Given the description of an element on the screen output the (x, y) to click on. 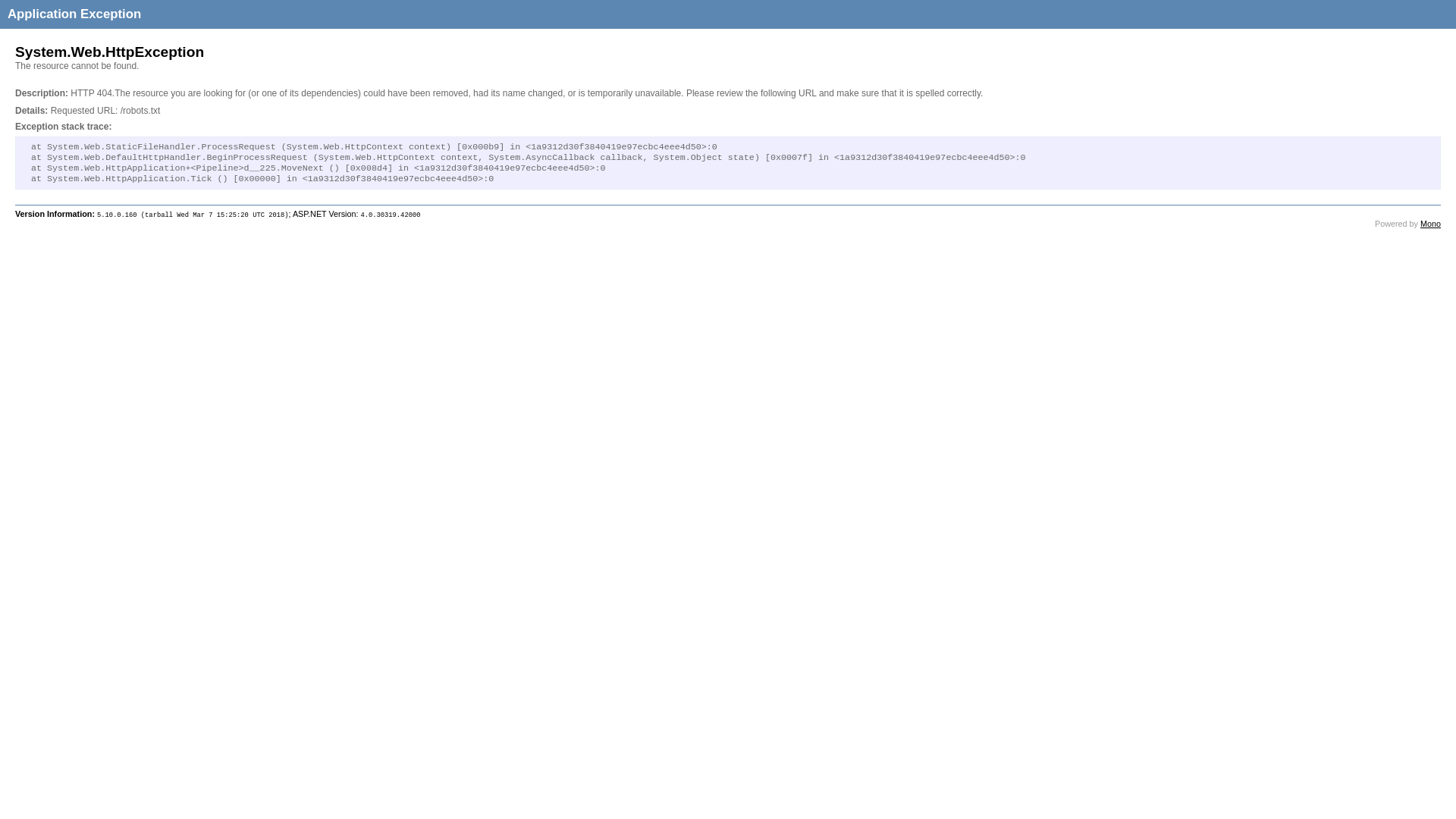
Mono Element type: text (1430, 223)
